Given the description of an element on the screen output the (x, y) to click on. 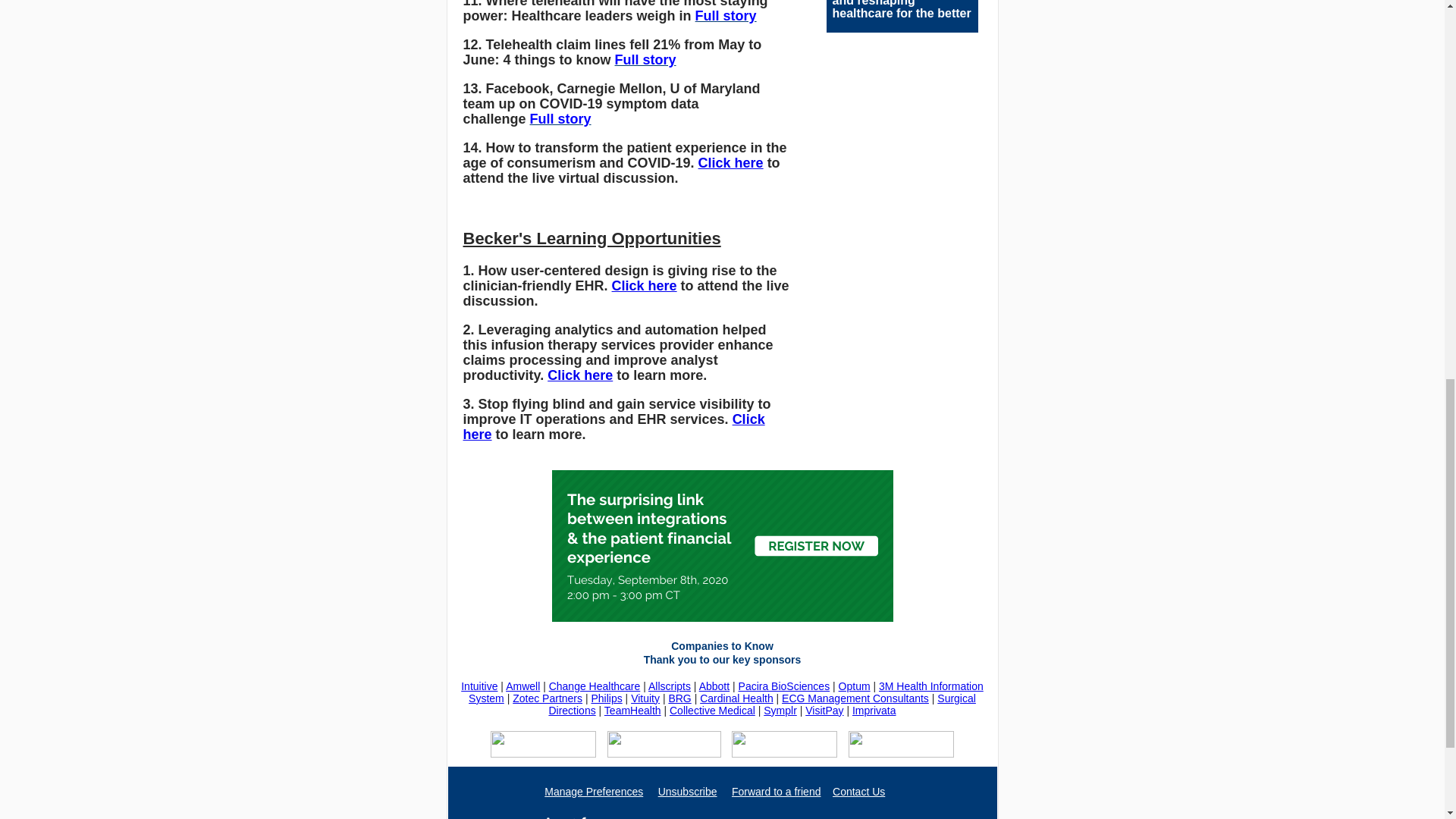
Follow us on Twitter (580, 815)
Click here (579, 375)
Change Healthcare (594, 686)
Full story (726, 15)
Intuitive (479, 686)
Abbott (713, 686)
Pacira BioSciences (783, 686)
Click here (613, 426)
Optum (854, 686)
Click here (644, 285)
Amwell (522, 686)
Click here (730, 162)
Allscripts (668, 686)
Full story (645, 59)
